Given the description of an element on the screen output the (x, y) to click on. 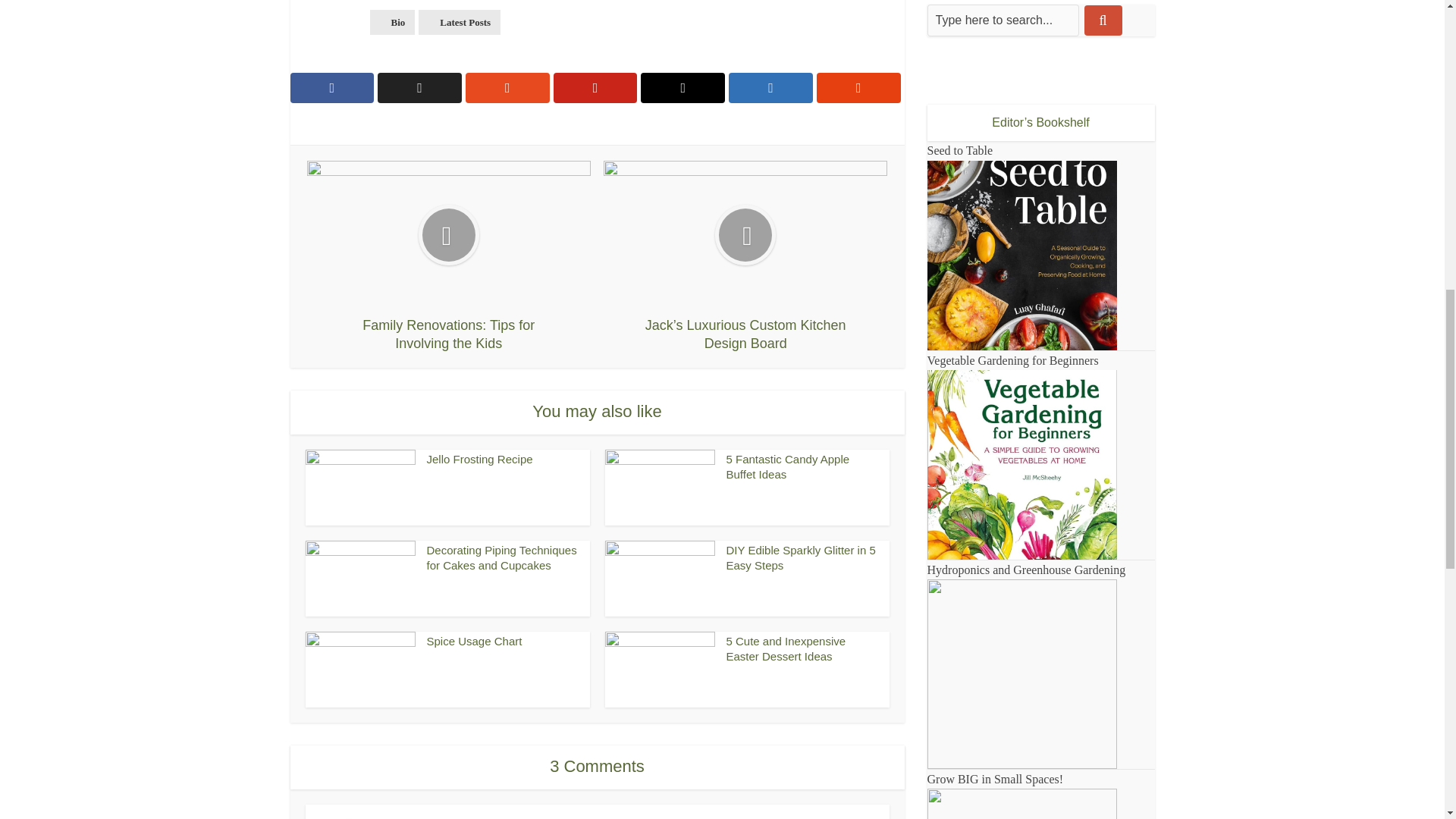
5 Fantastic Candy Apple Buffet Ideas (788, 466)
Type here to search... (1002, 20)
Type here to search... (1002, 20)
Jello Frosting Recipe (479, 459)
